Given the description of an element on the screen output the (x, y) to click on. 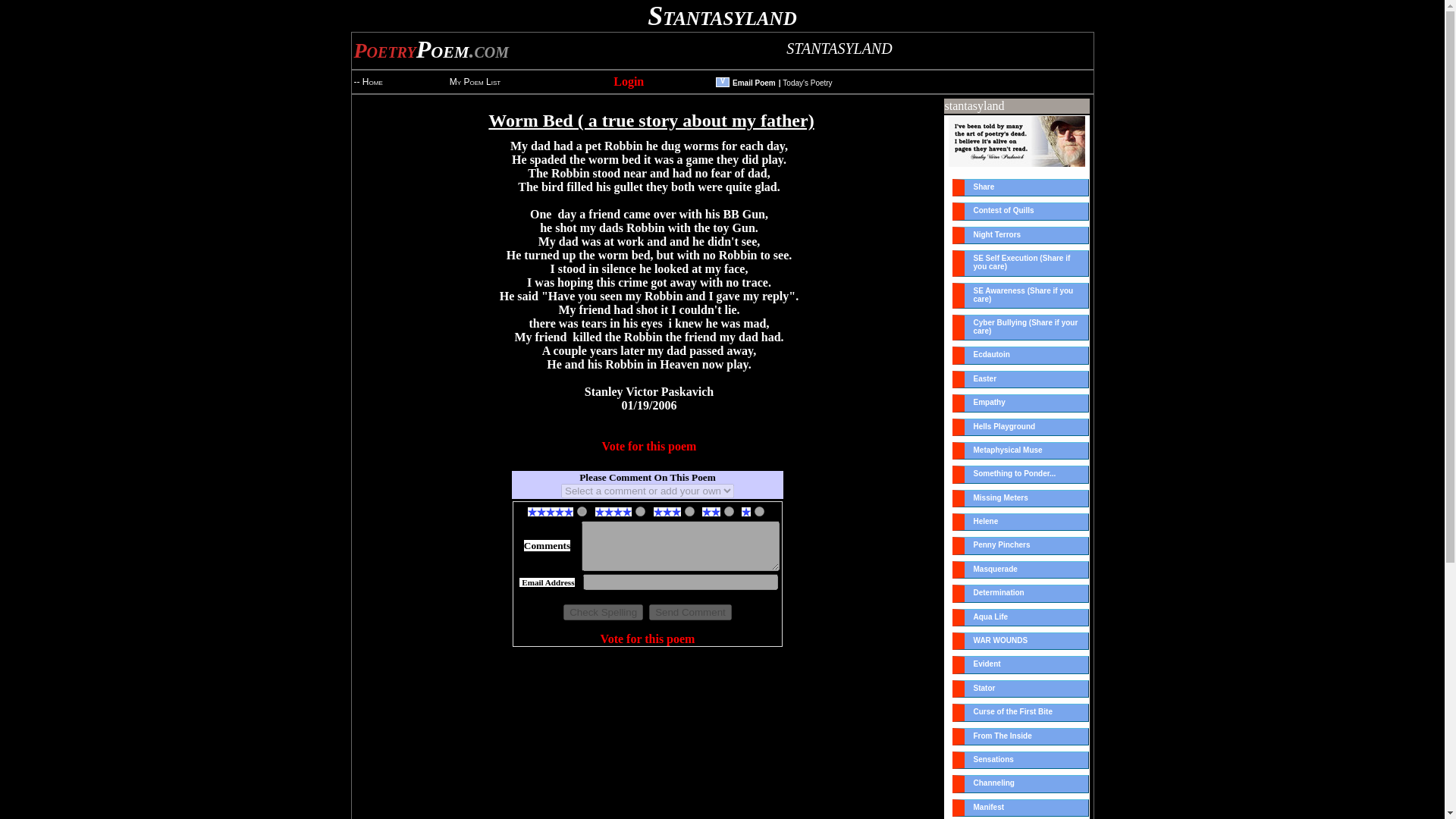
Masquerade (1020, 569)
Determination (1020, 592)
Send Comment (690, 611)
Email Poem (754, 81)
Easter (1020, 379)
Average (689, 511)
-- Home (367, 81)
V (722, 78)
Aqua Life (1020, 617)
Curse of the First Bite (1020, 712)
Ecdautoin (1020, 354)
Night Terrors (1020, 235)
Penny Pinchers (1020, 545)
PoetryPoem.com (430, 52)
Empathy (1020, 402)
